Given the description of an element on the screen output the (x, y) to click on. 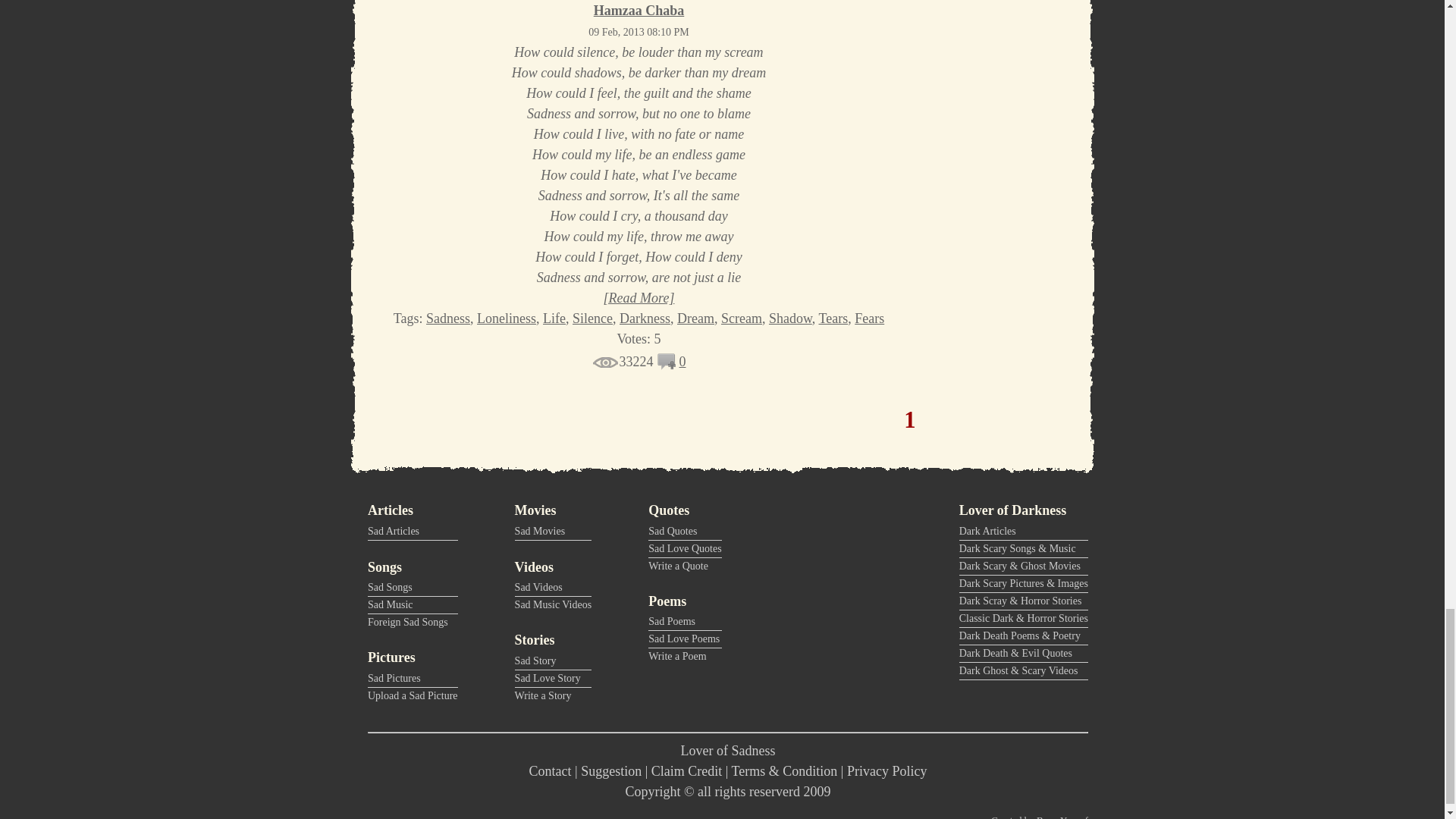
Total Visited 33224 Times (621, 361)
Post a comment (667, 365)
